Given the description of an element on the screen output the (x, y) to click on. 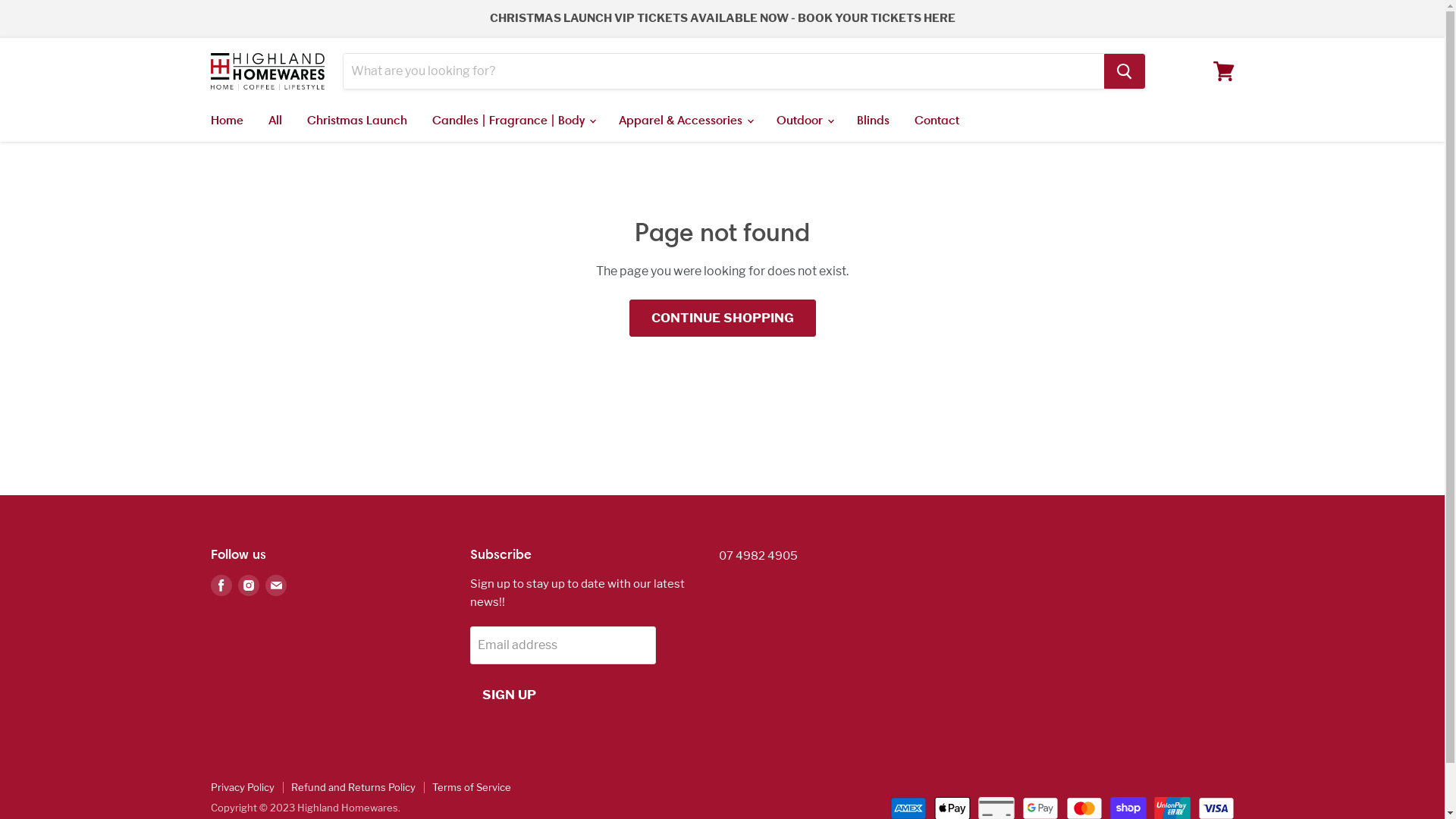
CONTINUE SHOPPING Element type: text (722, 318)
Blinds Element type: text (872, 119)
Candles | Fragrance | Body Element type: text (512, 119)
Find us on Instagram Element type: text (248, 585)
Privacy Policy Element type: text (242, 787)
Terms of Service Element type: text (471, 787)
View cart Element type: text (1223, 70)
Contact Element type: text (935, 119)
All Element type: text (274, 119)
Home Element type: text (226, 119)
Christmas Launch Element type: text (356, 119)
SIGN UP Element type: text (509, 695)
Apparel & Accessories Element type: text (684, 119)
Outdoor Element type: text (803, 119)
Refund and Returns Policy Element type: text (353, 787)
Find us on Facebook Element type: text (221, 585)
Find us on Email Element type: text (275, 585)
